Given the description of an element on the screen output the (x, y) to click on. 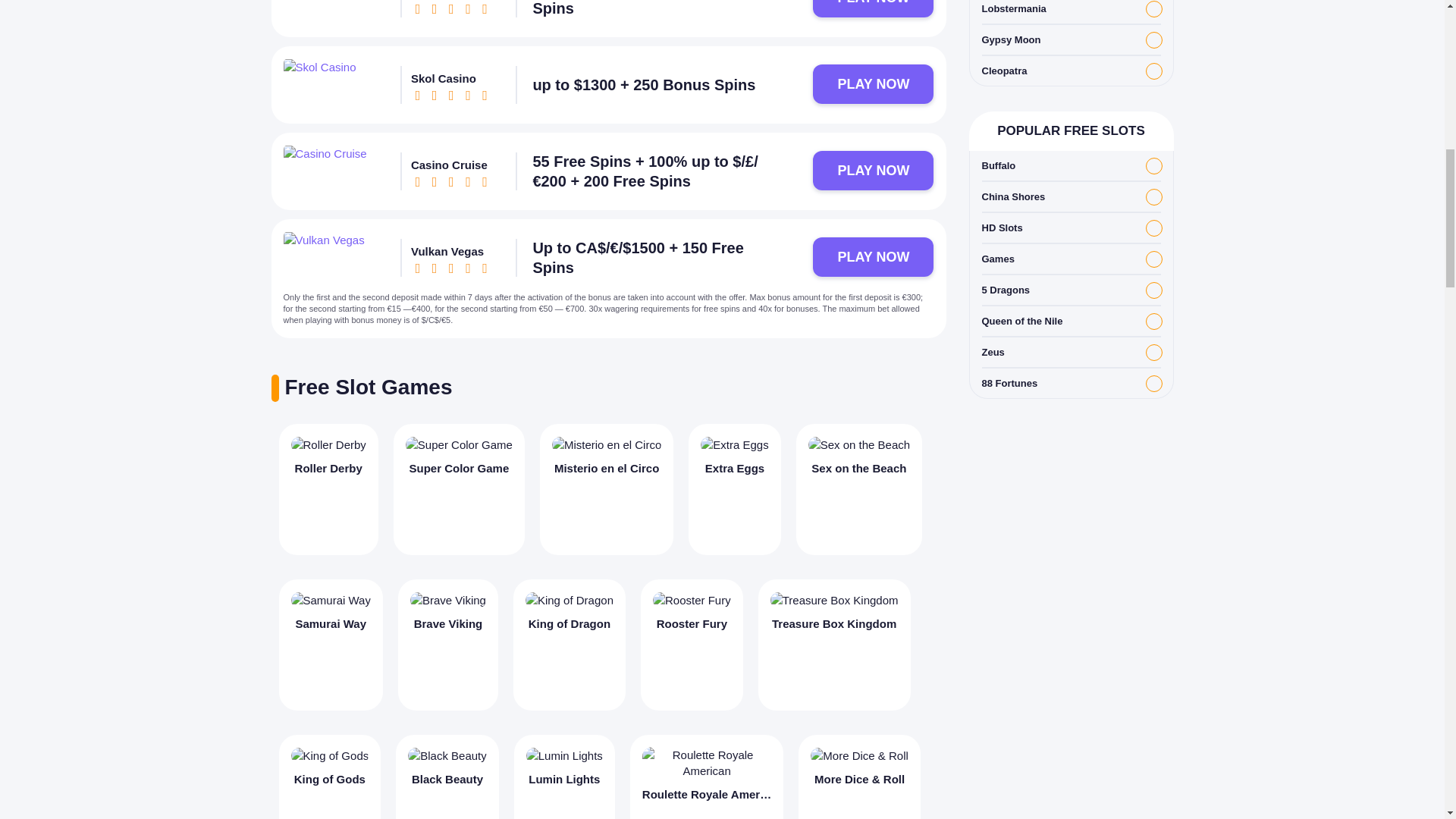
Sex-on-the-Beach (859, 444)
King-of-Dragon (568, 600)
Roller Derby (328, 444)
Misterio en el Circo (606, 489)
Sex on the Beach (858, 489)
Samurai-Way (331, 600)
Misterio-en-el-Circo (606, 444)
Brave-Viking (448, 600)
Super Color Game (458, 489)
Super-Color-Game (459, 444)
